Given the description of an element on the screen output the (x, y) to click on. 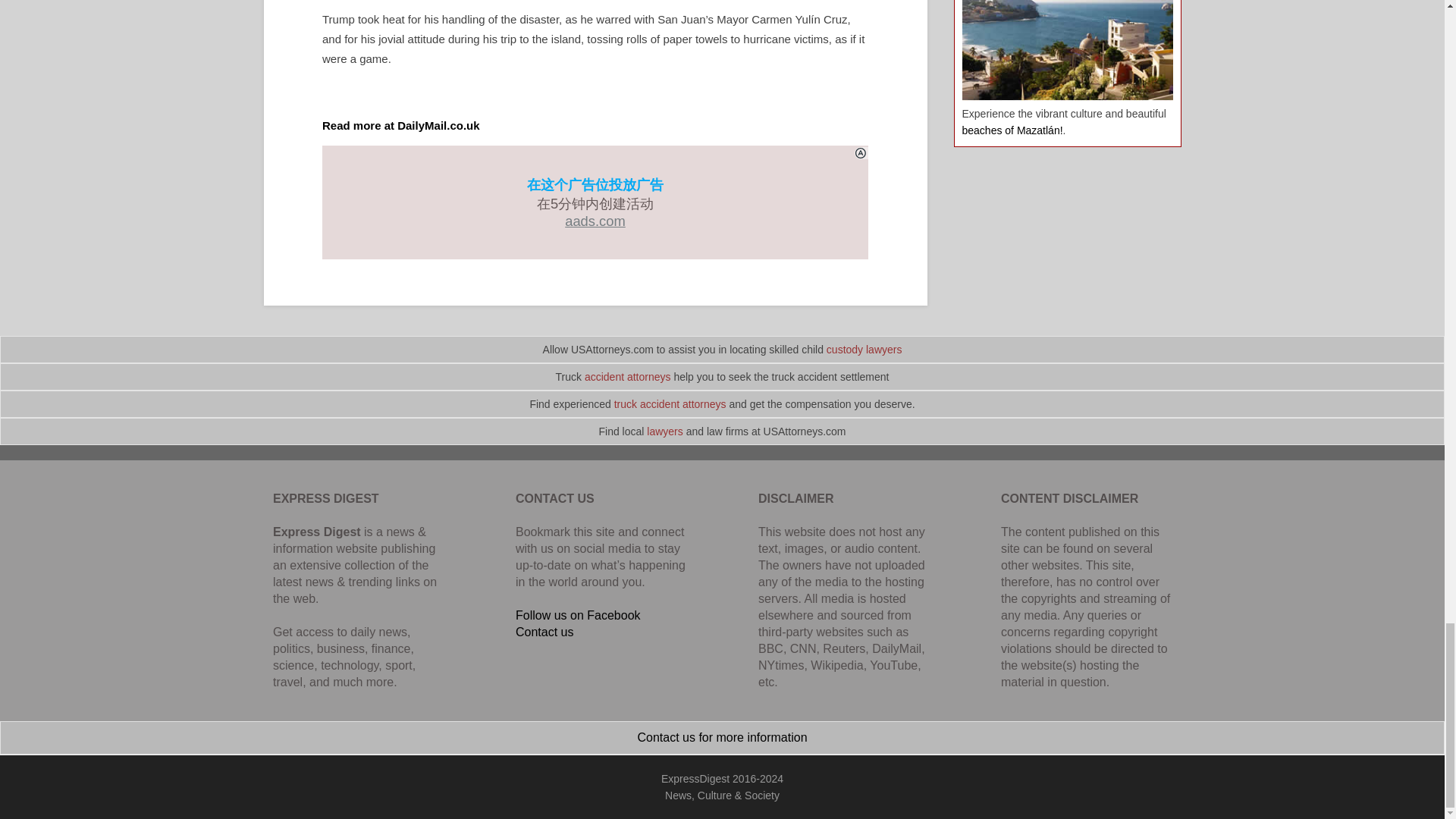
accident attorneys (628, 377)
custody lawyers (864, 349)
lawyers (664, 431)
truck accident attorneys (670, 404)
Read more at DailyMail.co.uk (400, 124)
